Given the description of an element on the screen output the (x, y) to click on. 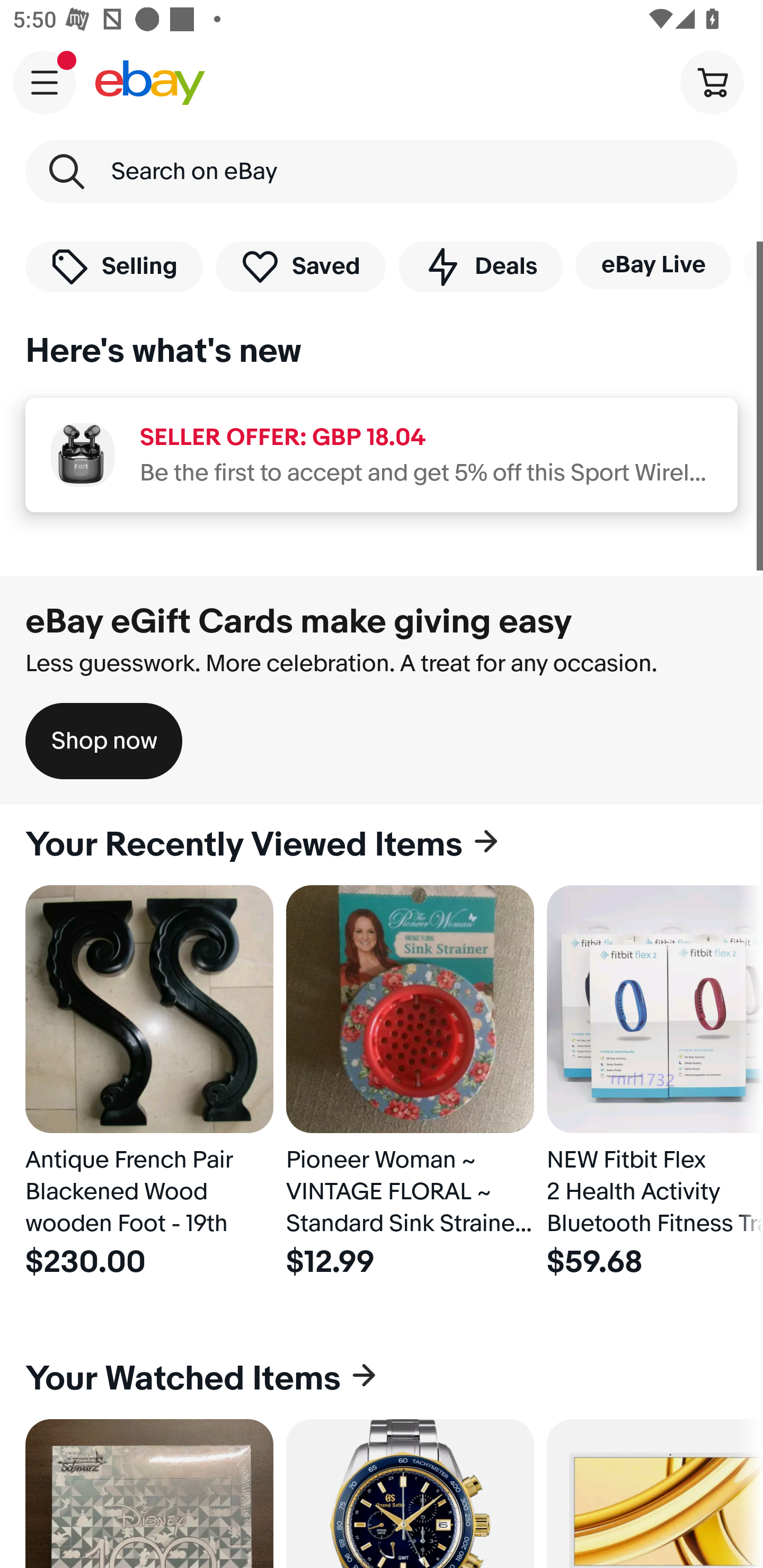
Main navigation, notification is pending, open (44, 82)
Cart button shopping cart (711, 81)
Search on eBay Search Keyword Search on eBay (381, 171)
Selling (113, 266)
Saved (300, 266)
Deals (480, 266)
eBay Live (652, 264)
eBay eGift Cards make giving easy (298, 621)
Shop now (103, 740)
Your Recently Viewed Items   (381, 844)
Your Watched Items   (381, 1379)
